Given the description of an element on the screen output the (x, y) to click on. 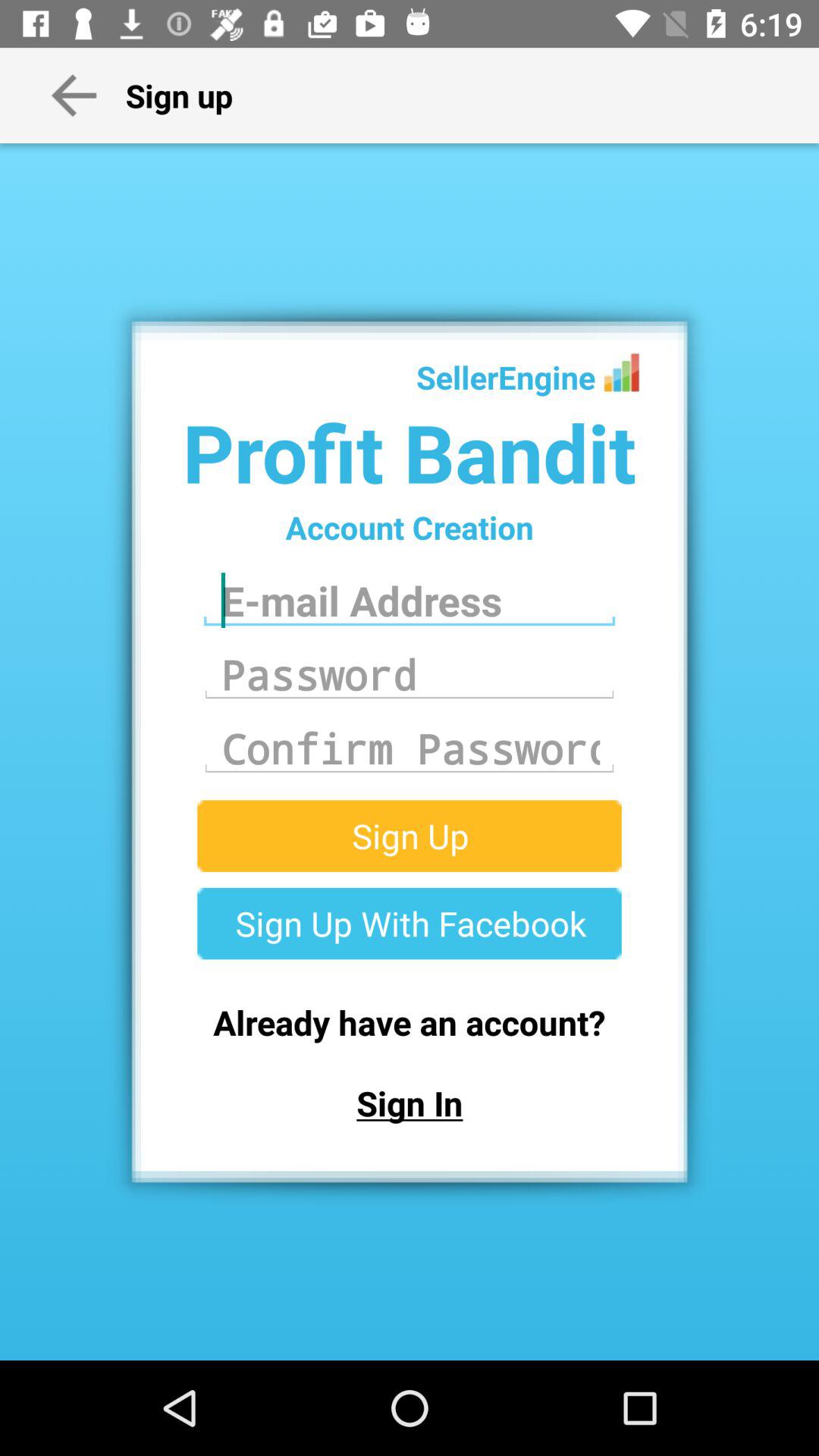
type in password (409, 674)
